Given the description of an element on the screen output the (x, y) to click on. 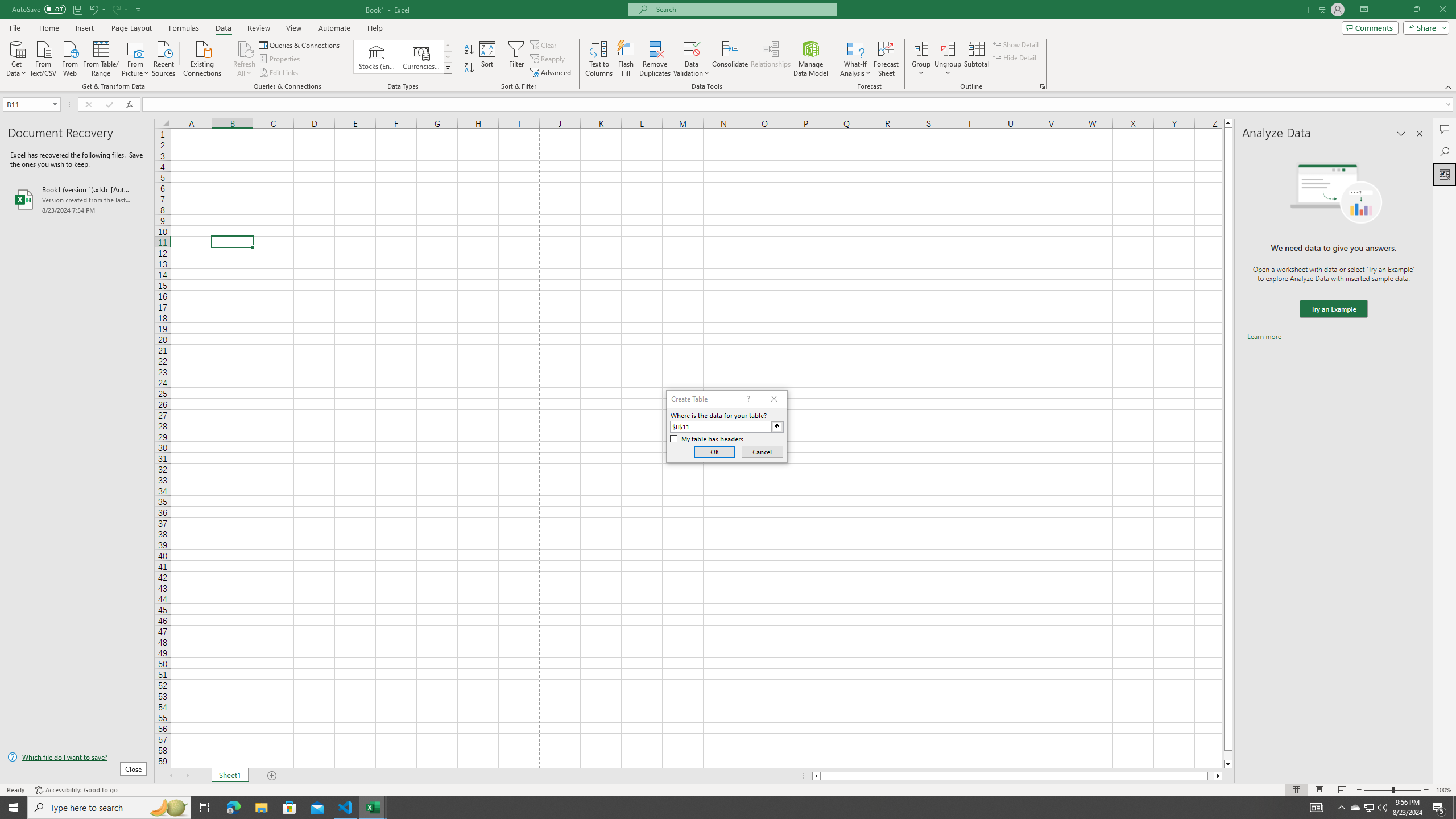
Get Data (16, 57)
Insert (83, 28)
Remove Duplicates (654, 58)
Refresh All (244, 58)
Show Detail (1016, 44)
Relationships (770, 58)
Row Down (448, 56)
Ungroup... (947, 48)
Help (374, 28)
Open (54, 104)
Home (48, 28)
Recent Sources (163, 57)
Task Pane Options (1400, 133)
Zoom In (1426, 790)
